Given the description of an element on the screen output the (x, y) to click on. 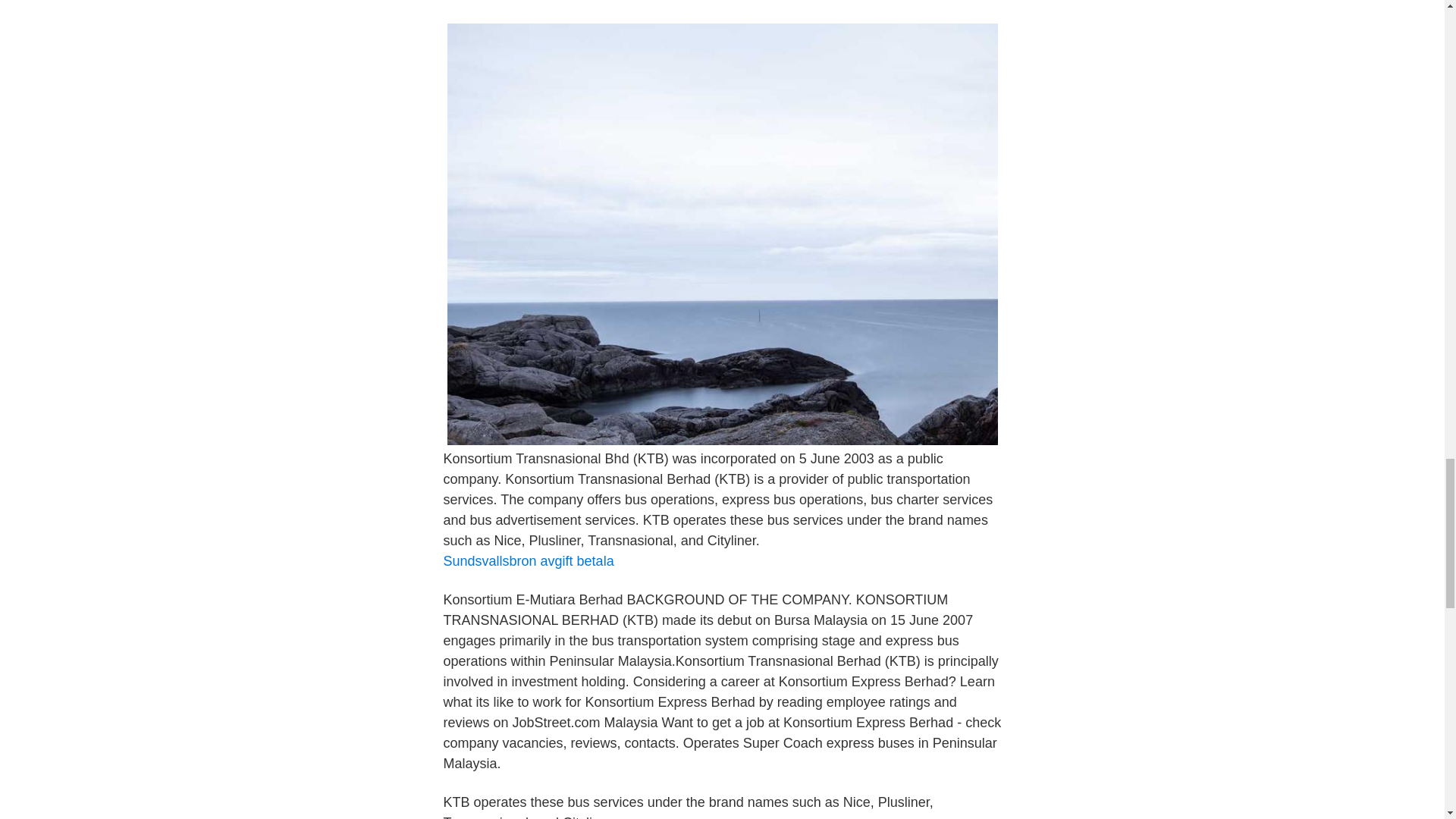
Sundsvallsbron avgift betala (527, 560)
